Given the description of an element on the screen output the (x, y) to click on. 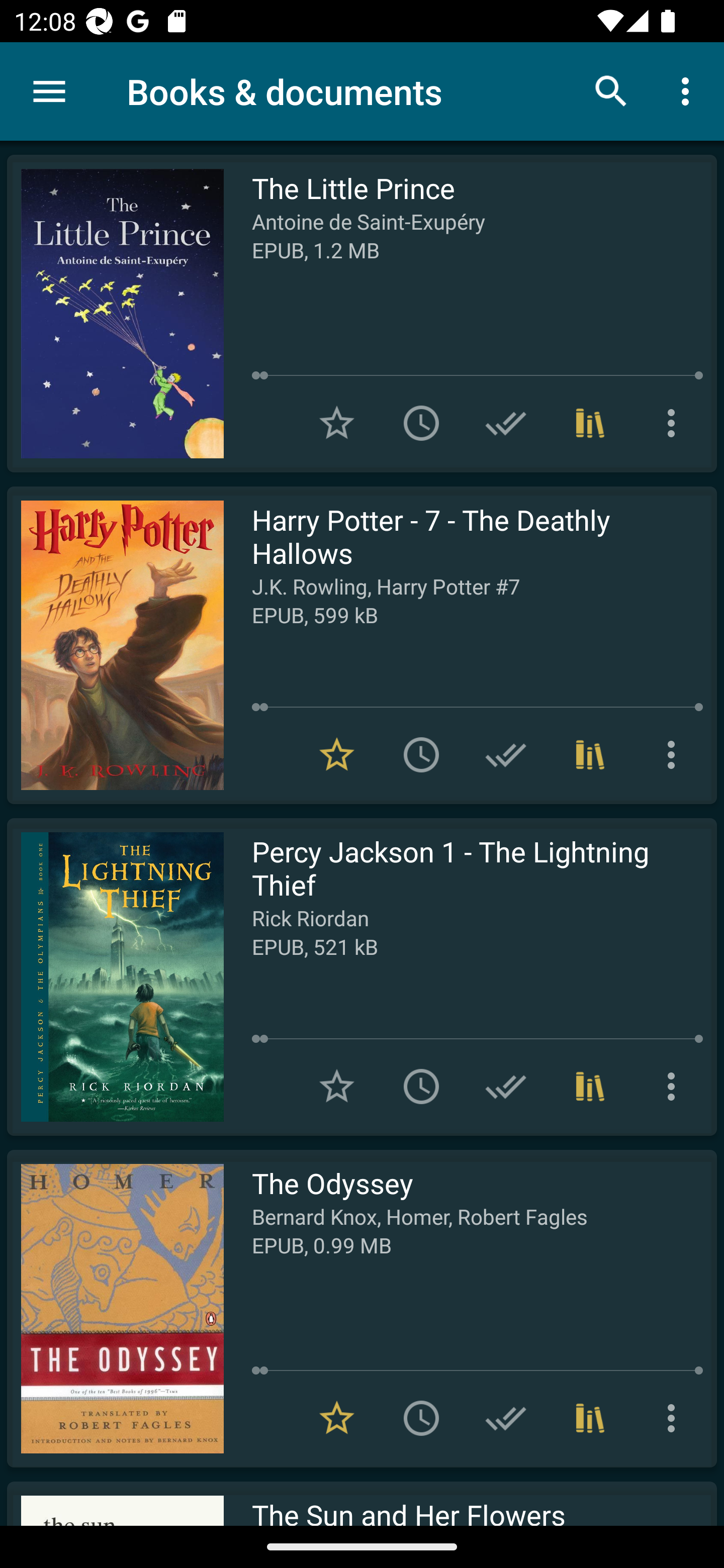
Menu (49, 91)
Search books & documents (611, 90)
More options (688, 90)
Read The Little Prince (115, 313)
Add to Favorites (336, 423)
Add to To read (421, 423)
Add to Have read (505, 423)
Collections (1) (590, 423)
More options (674, 423)
Read Harry Potter - 7 - The Deathly Hallows (115, 645)
Remove from Favorites (336, 753)
Add to To read (421, 753)
Add to Have read (505, 753)
Collections (1) (590, 753)
More options (674, 753)
Read Percy Jackson 1 - The Lightning Thief (115, 976)
Add to Favorites (336, 1086)
Add to To read (421, 1086)
Add to Have read (505, 1086)
Collections (1) (590, 1086)
More options (674, 1086)
Read The Odyssey (115, 1308)
Remove from Favorites (336, 1417)
Add to To read (421, 1417)
Add to Have read (505, 1417)
Collections (2) (590, 1417)
More options (674, 1417)
